Given the description of an element on the screen output the (x, y) to click on. 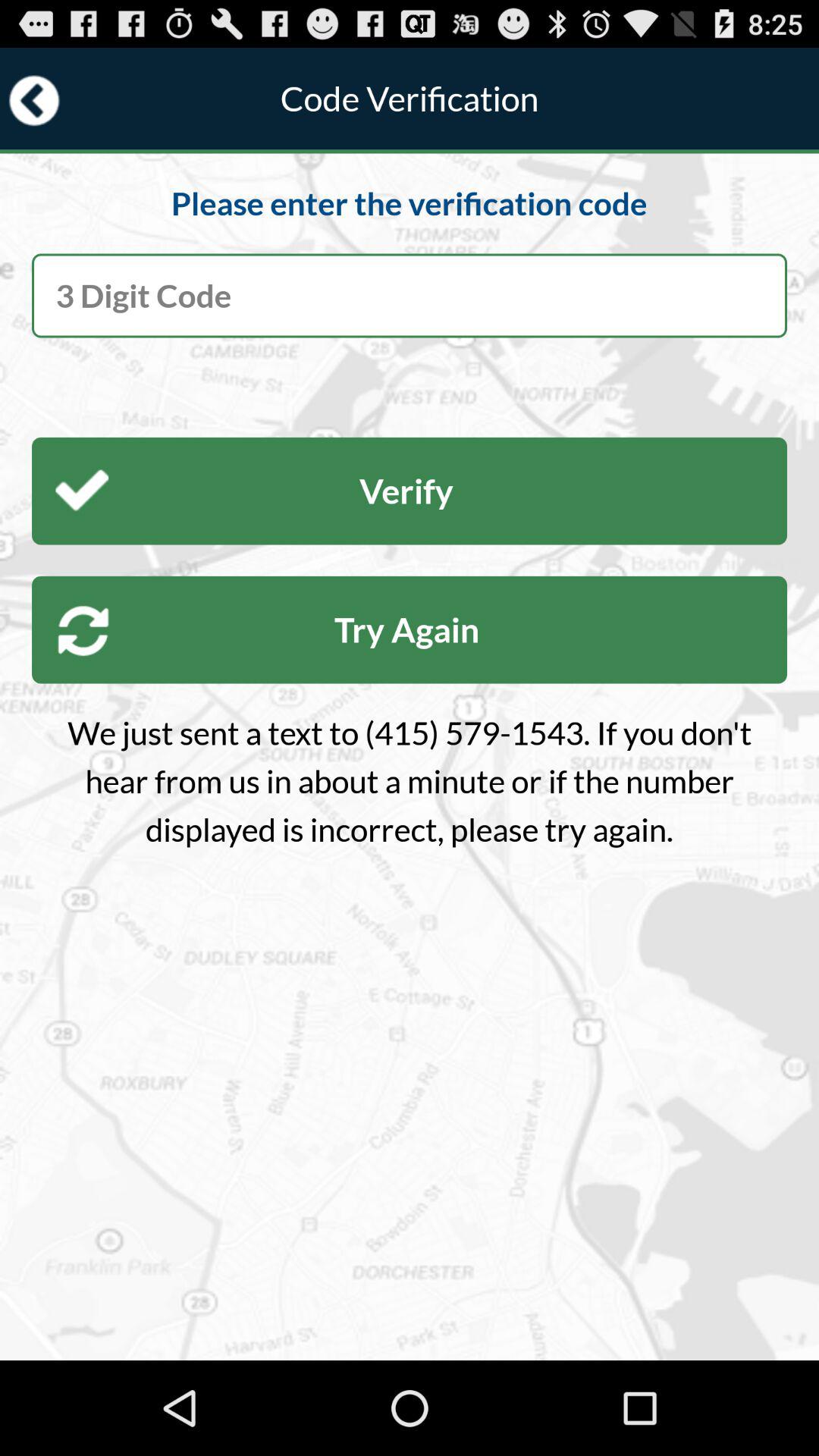
click the try again icon (409, 629)
